Given the description of an element on the screen output the (x, y) to click on. 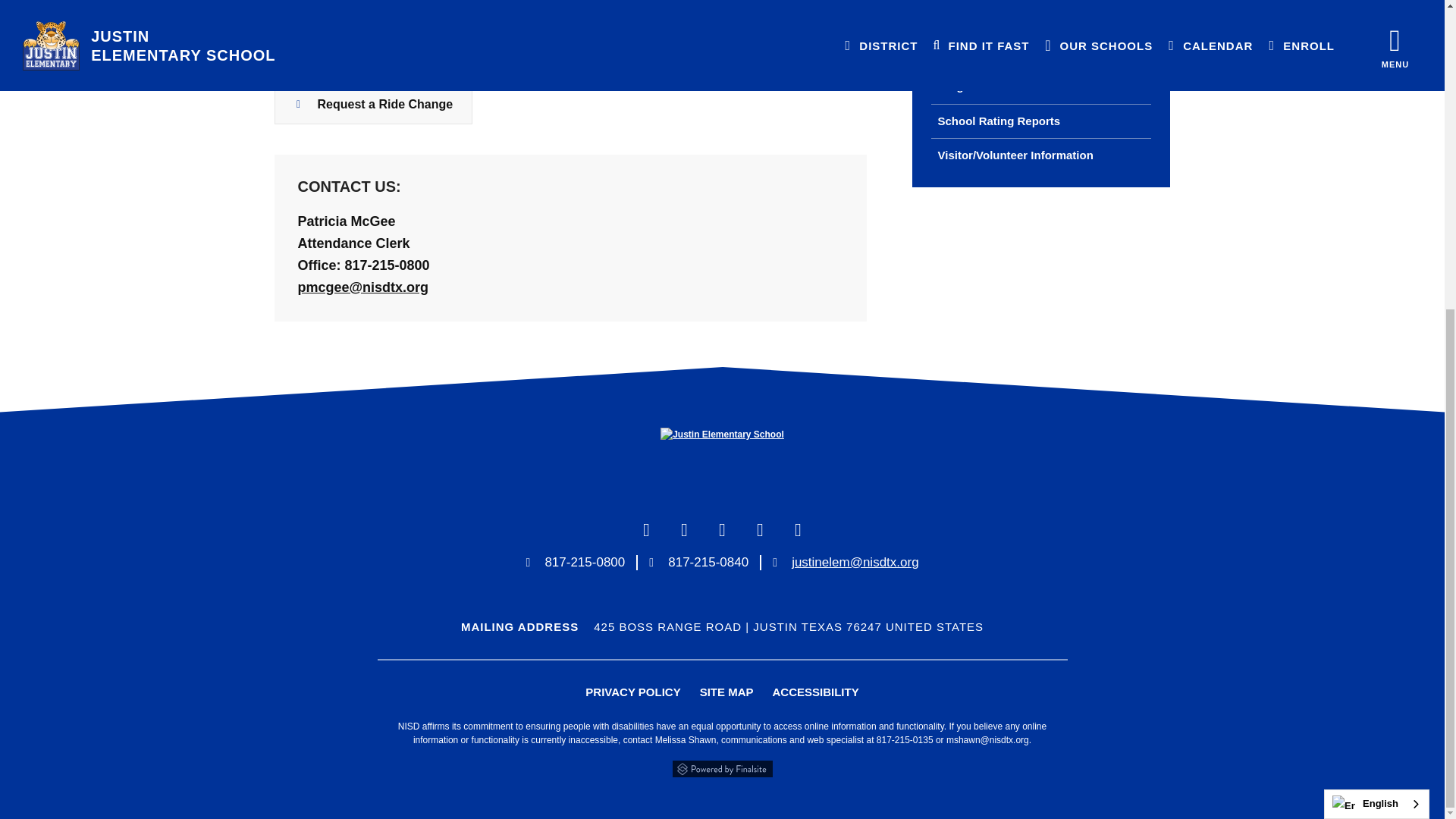
Email P. McGee (362, 287)
Email (855, 562)
Powered by Finalsite opens in a new window (721, 768)
Request a ride change (373, 104)
